Given the description of an element on the screen output the (x, y) to click on. 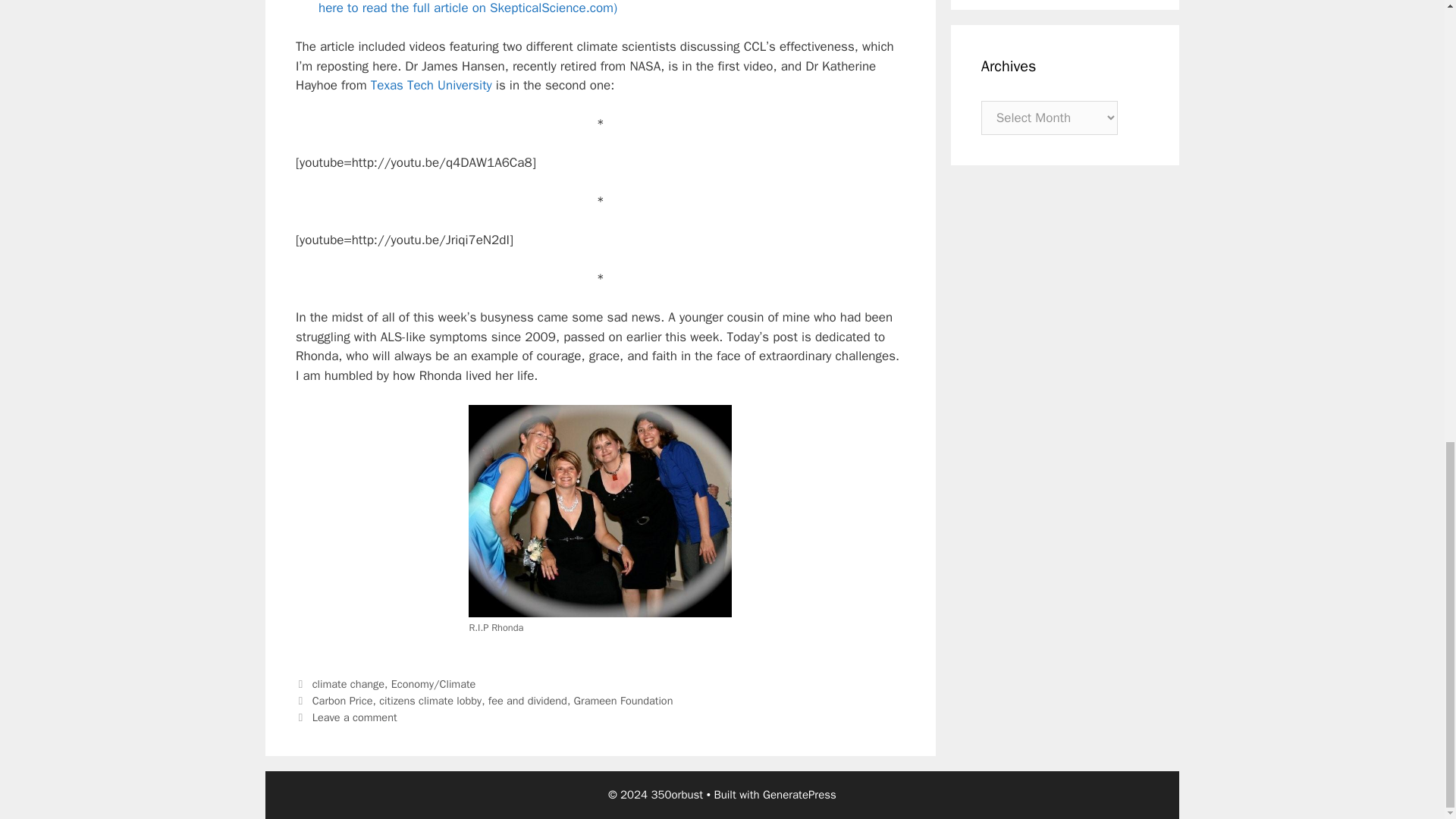
Carbon Price (342, 700)
Grameen Foundation (622, 700)
citizens climate lobby (429, 700)
climate change (348, 684)
Leave a comment (355, 716)
fee and dividend (527, 700)
Texas Tech University (431, 84)
